Given the description of an element on the screen output the (x, y) to click on. 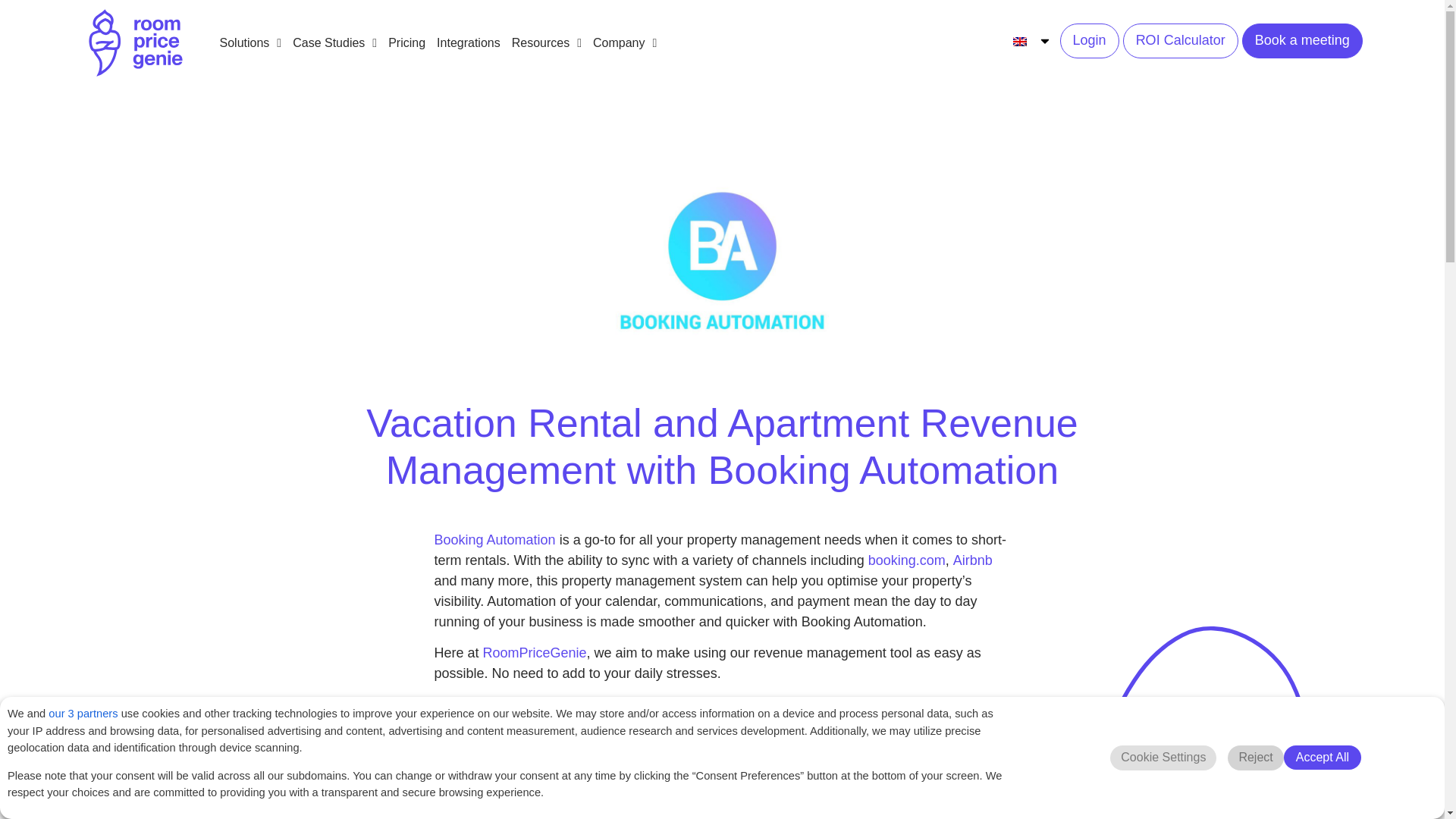
Pricing (401, 42)
Resources (540, 42)
Solutions (244, 42)
English (1019, 40)
Integrations (462, 42)
Case Studies (329, 42)
Company (618, 42)
